Given the description of an element on the screen output the (x, y) to click on. 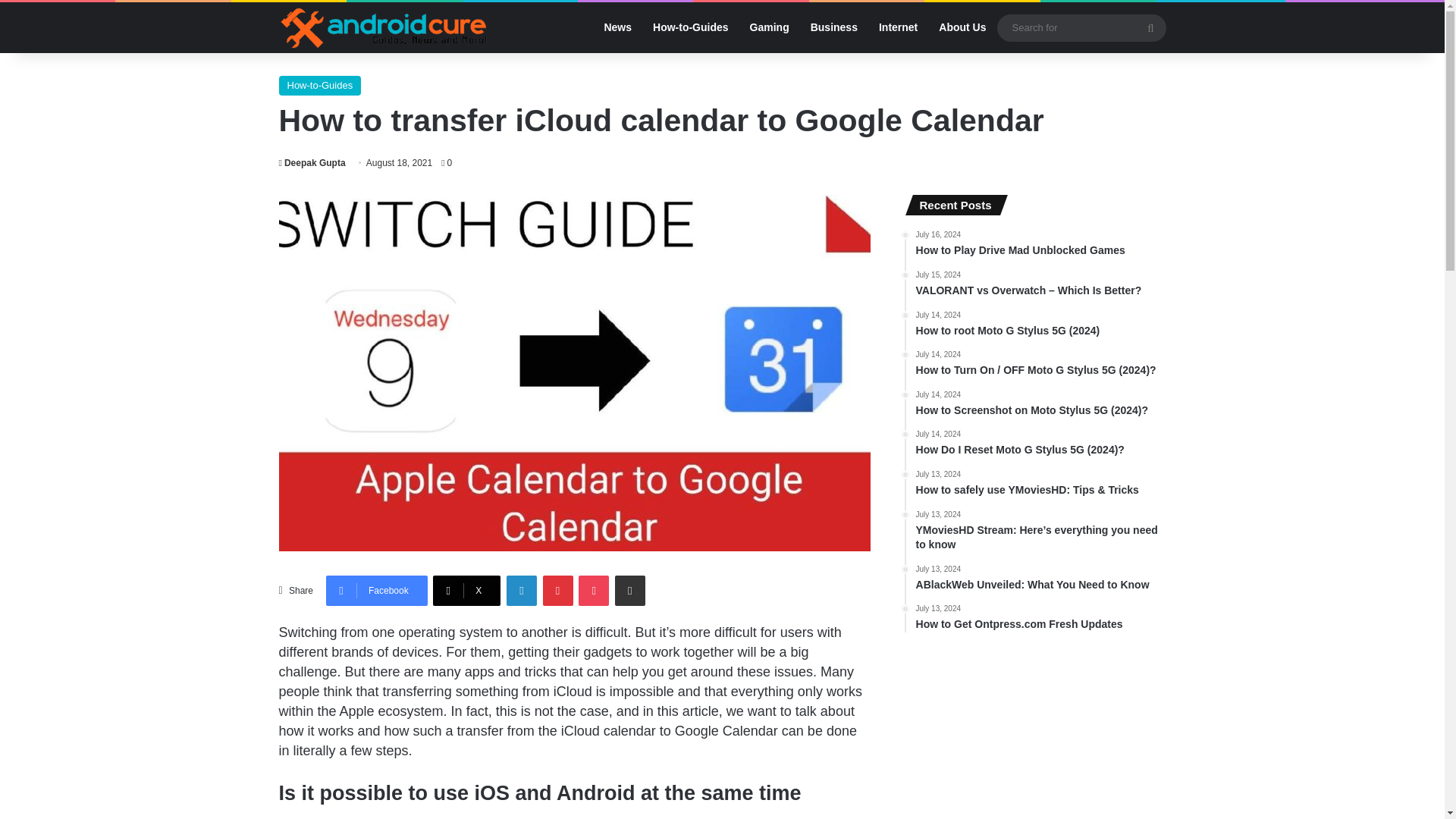
Facebook (377, 590)
X (466, 590)
Pinterest (558, 590)
Search for (1080, 27)
X (466, 590)
Androidcure (384, 27)
How-to-Guides (320, 85)
Facebook (377, 590)
Business (833, 27)
How-to-Guides (690, 27)
Pinterest (558, 590)
Share via Email (629, 590)
Search for (1150, 26)
Deepak Gupta (312, 163)
Internet (897, 27)
